Given the description of an element on the screen output the (x, y) to click on. 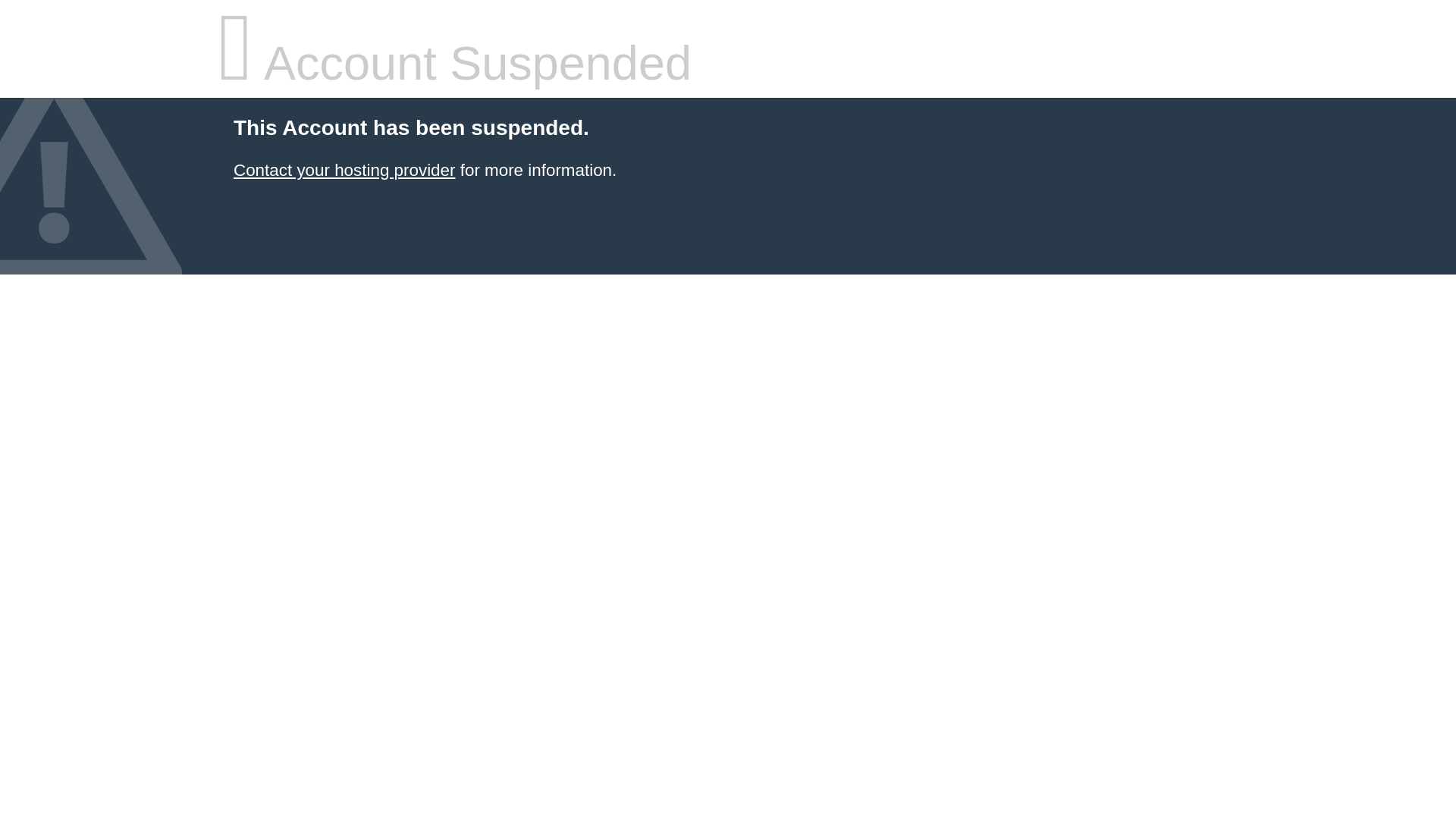
Contact your hosting provider (343, 169)
